Given the description of an element on the screen output the (x, y) to click on. 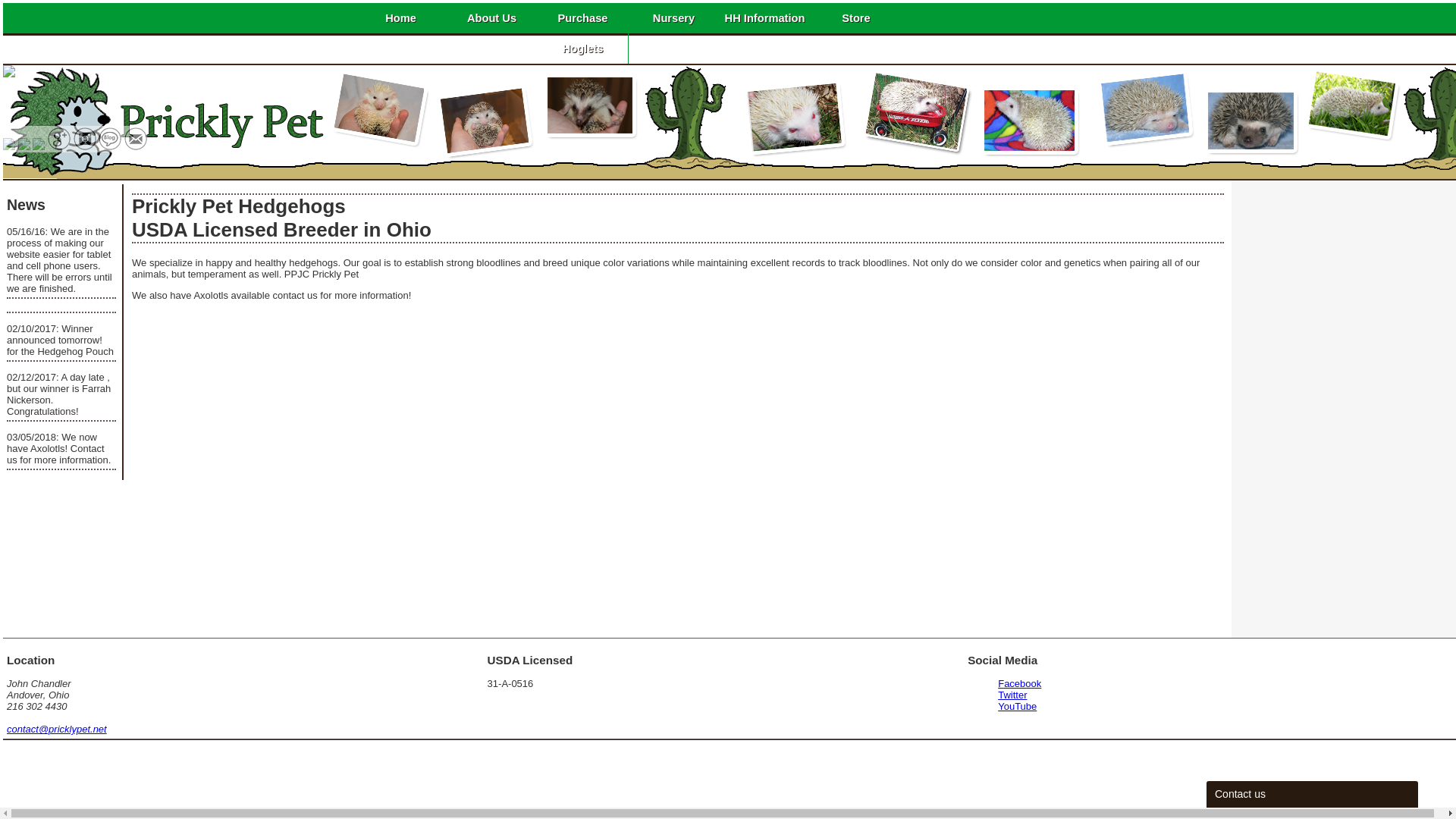
Nursery (673, 18)
Facebook (1019, 683)
HH Information (764, 18)
About Us (491, 18)
Purchase Hoglets (582, 33)
Store (855, 18)
Home (400, 18)
Twitter (1011, 695)
YouTube (1016, 706)
